Given the description of an element on the screen output the (x, y) to click on. 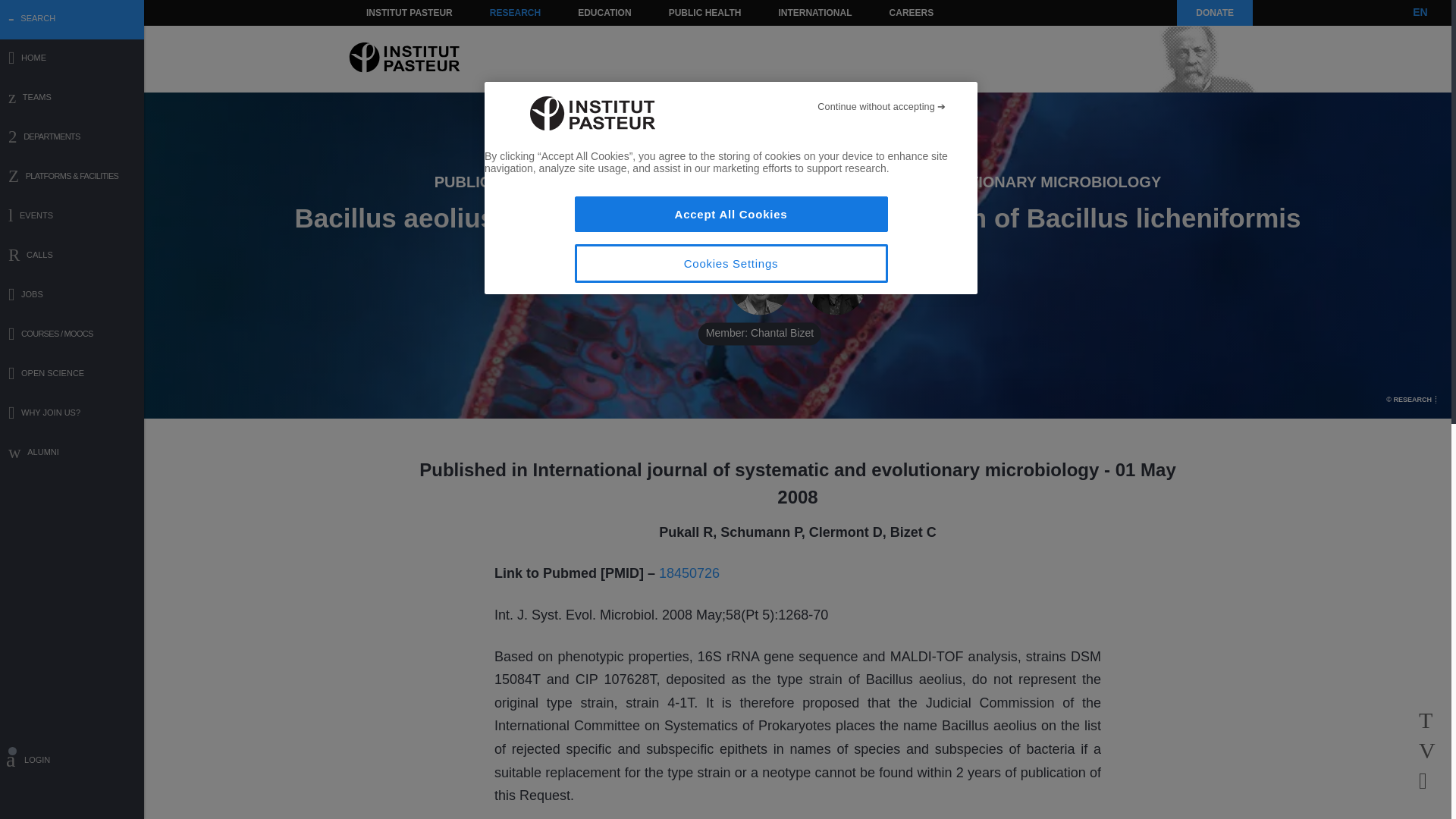
DONATE (1214, 12)
18450726 (689, 572)
PUBLIC HEALTH (705, 12)
CAREERS (911, 12)
EDUCATION (603, 12)
Skip to content (387, 11)
WHY JOIN US? (72, 413)
OPEN SCIENCE (72, 374)
HOME (72, 59)
RESEARCH (515, 12)
